Given the description of an element on the screen output the (x, y) to click on. 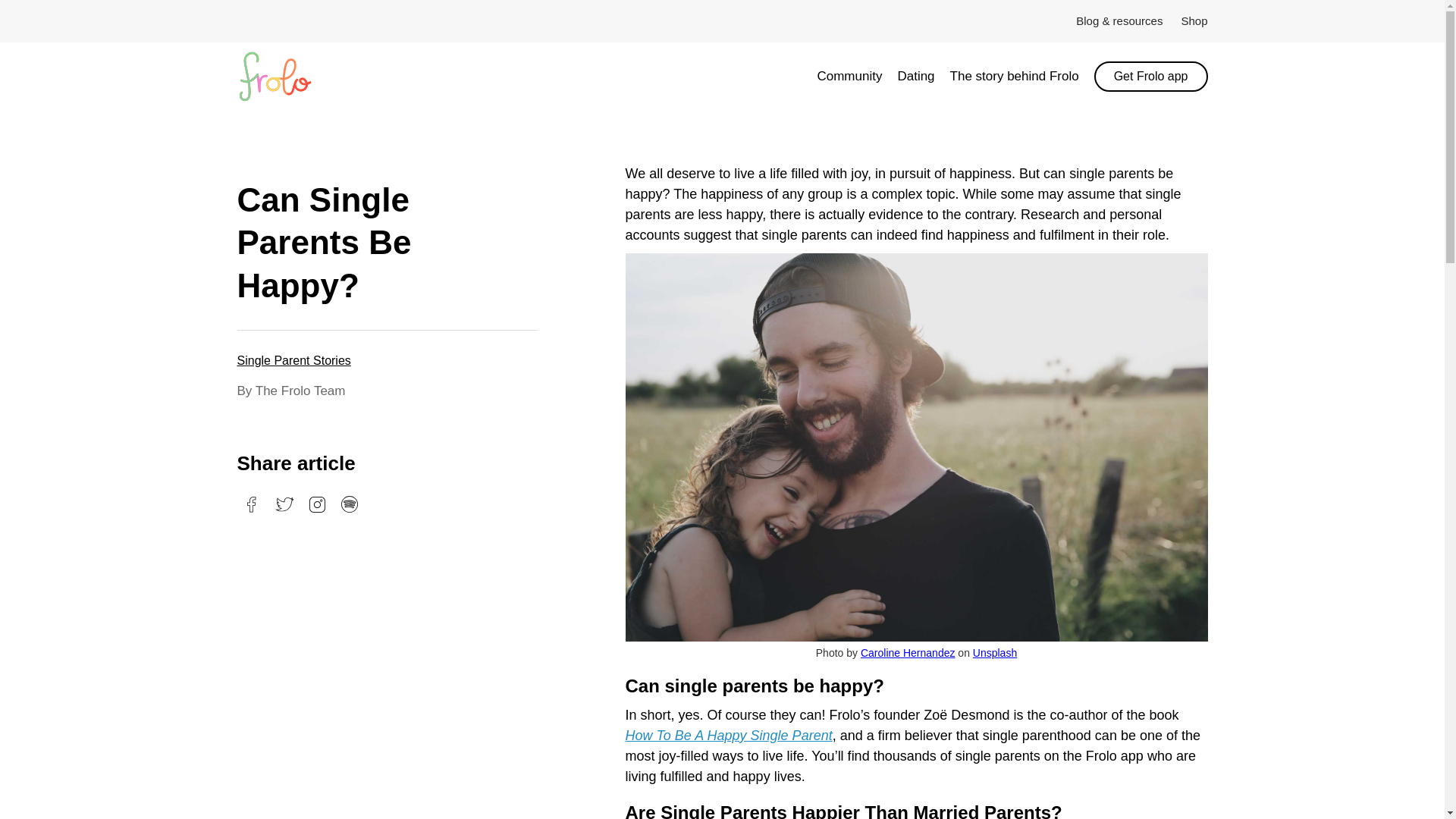
The story behind Frolo (1022, 76)
Get Frolo app (1151, 76)
Shop (1184, 21)
Single Parent Stories (292, 359)
Dating (922, 76)
How To Be A Happy Single Parent (727, 735)
By The Frolo Team (395, 391)
Caroline Hernandez (907, 653)
Unsplash (994, 653)
Community (856, 76)
